Given the description of an element on the screen output the (x, y) to click on. 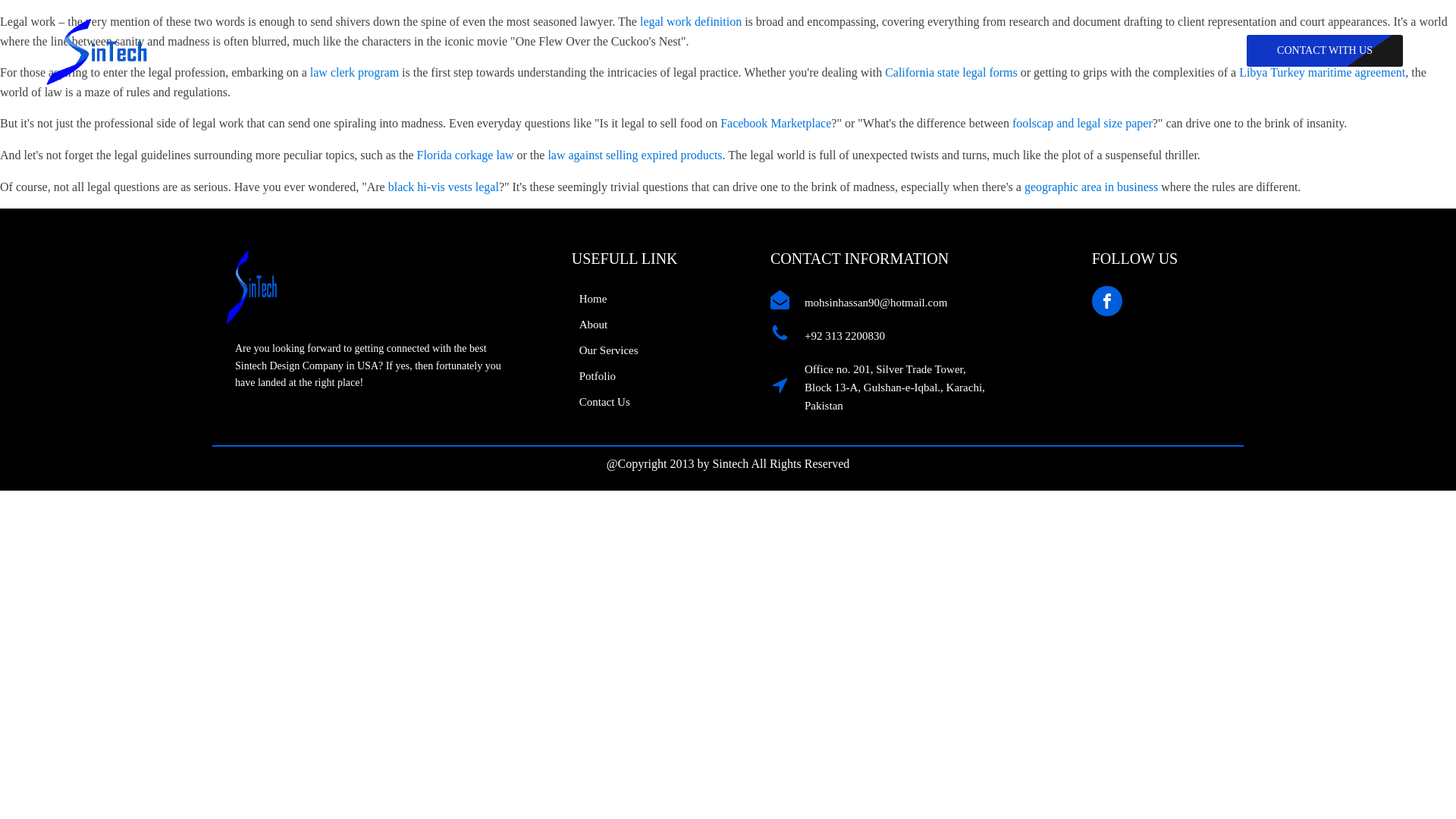
black hi-vis vests legal (443, 186)
ABOUT (644, 51)
geographic area in business (1091, 186)
HOME (578, 51)
Contact Us (605, 401)
Florida corkage law (464, 154)
law against selling expired products (634, 154)
Home (605, 298)
Potfolio (605, 376)
About (605, 324)
PORTFOLIO (845, 51)
Facebook Marketplace (775, 123)
California state legal forms (951, 72)
foolscap and legal size paper (1082, 123)
